Given the description of an element on the screen output the (x, y) to click on. 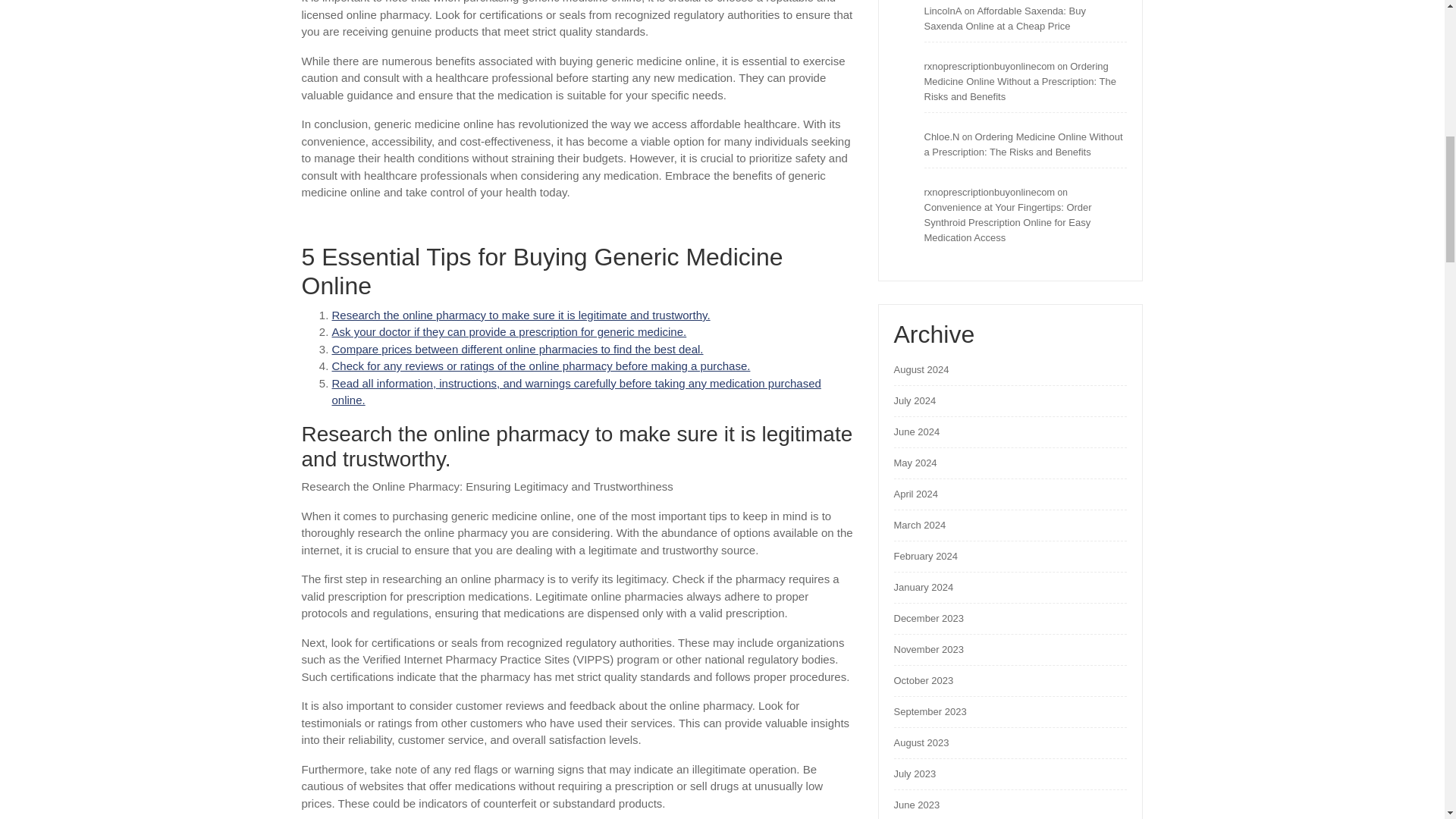
LincolnA (941, 10)
Affordable Saxenda: Buy Saxenda Online at a Cheap Price (1003, 17)
